Given the description of an element on the screen output the (x, y) to click on. 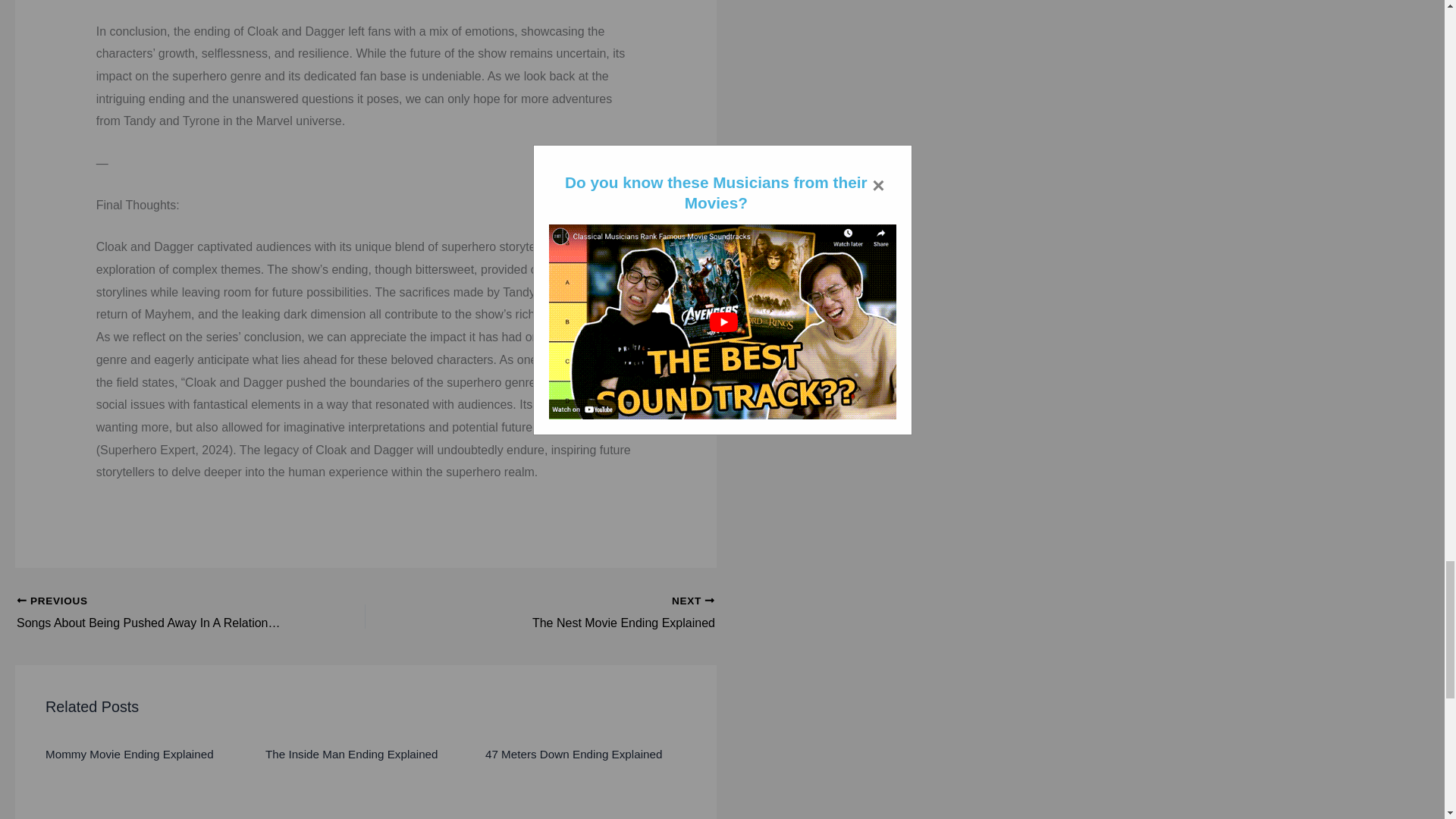
Songs About Being Pushed Away In A Relationship (156, 613)
The Nest Movie Ending Explained (573, 613)
